Given the description of an element on the screen output the (x, y) to click on. 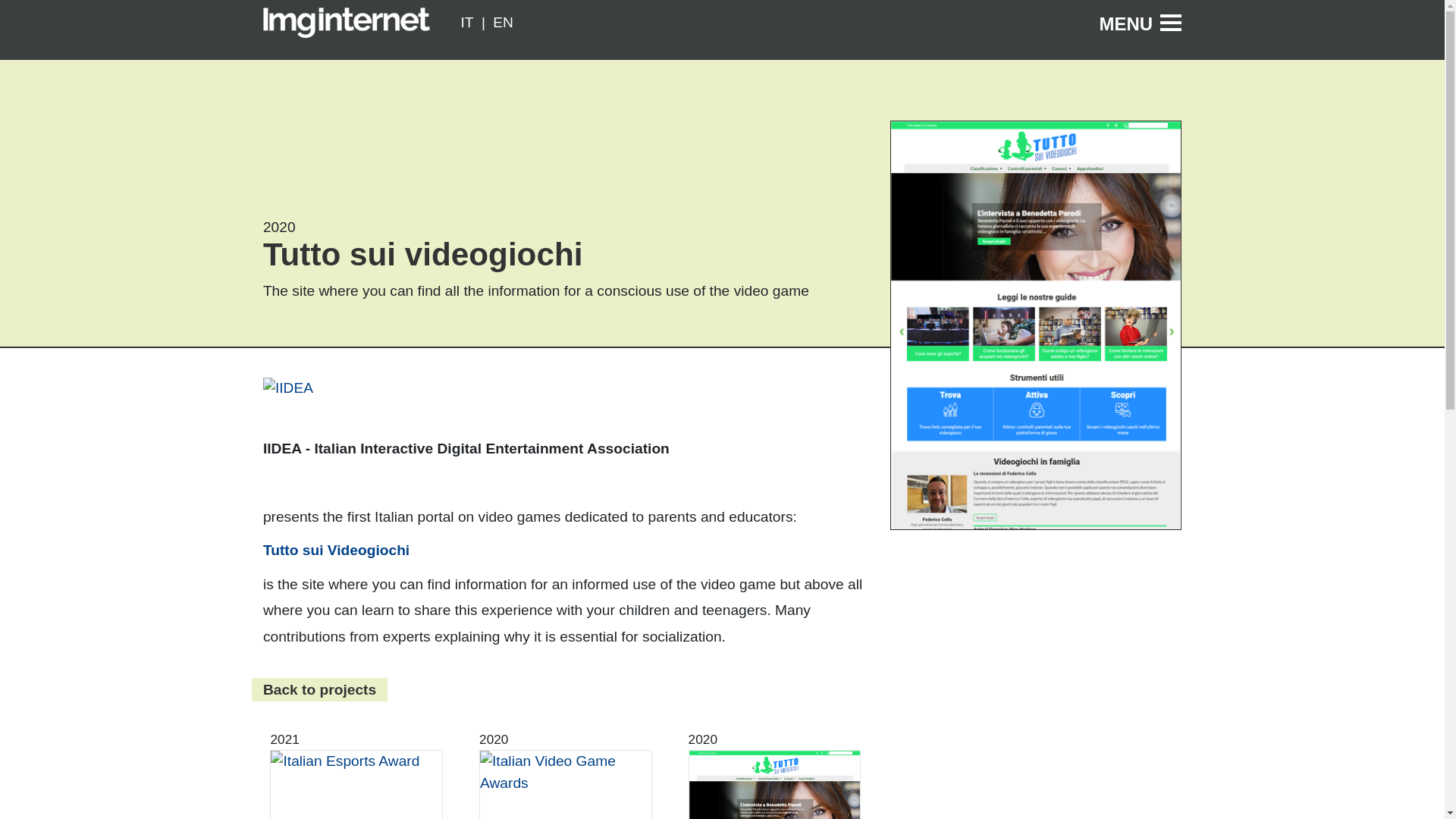
Back to projects (319, 689)
Italian Esports Award (356, 785)
EN (503, 23)
Tutto sui Videogiochi (336, 549)
Tutto sui videogiochi (774, 785)
IIDEA (288, 388)
Home page (346, 22)
Italian Video Game Awards (565, 785)
